Given the description of an element on the screen output the (x, y) to click on. 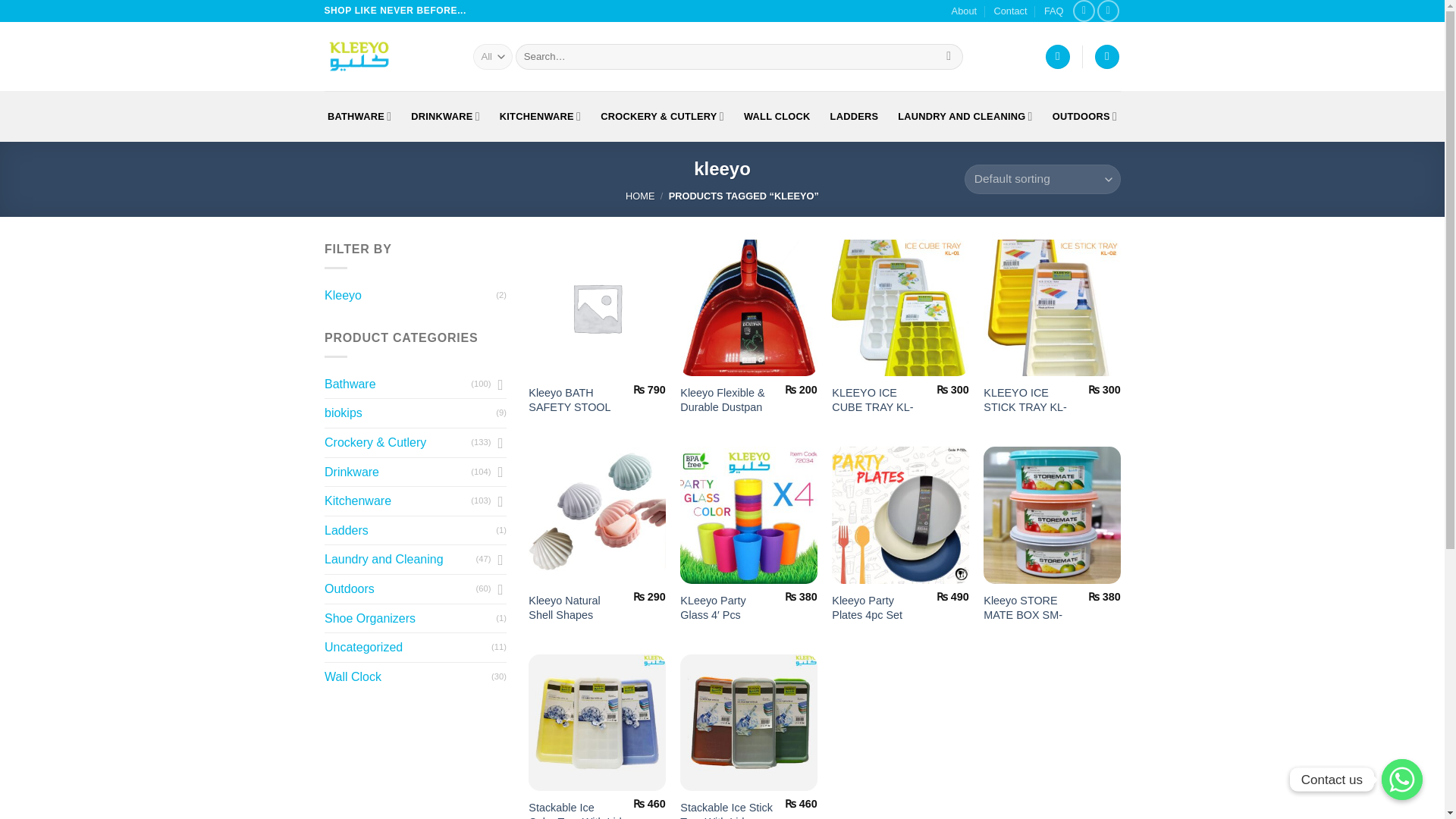
About (964, 11)
Kleeyo - Shop Like Never Before (386, 56)
BATHWARE (359, 115)
KITCHENWARE (539, 115)
FAQ (1053, 11)
Follow on Instagram (1108, 11)
Follow on Facebook (1083, 11)
Search (948, 56)
Contact (1009, 11)
DRINKWARE (445, 115)
Cart (1106, 57)
